Given the description of an element on the screen output the (x, y) to click on. 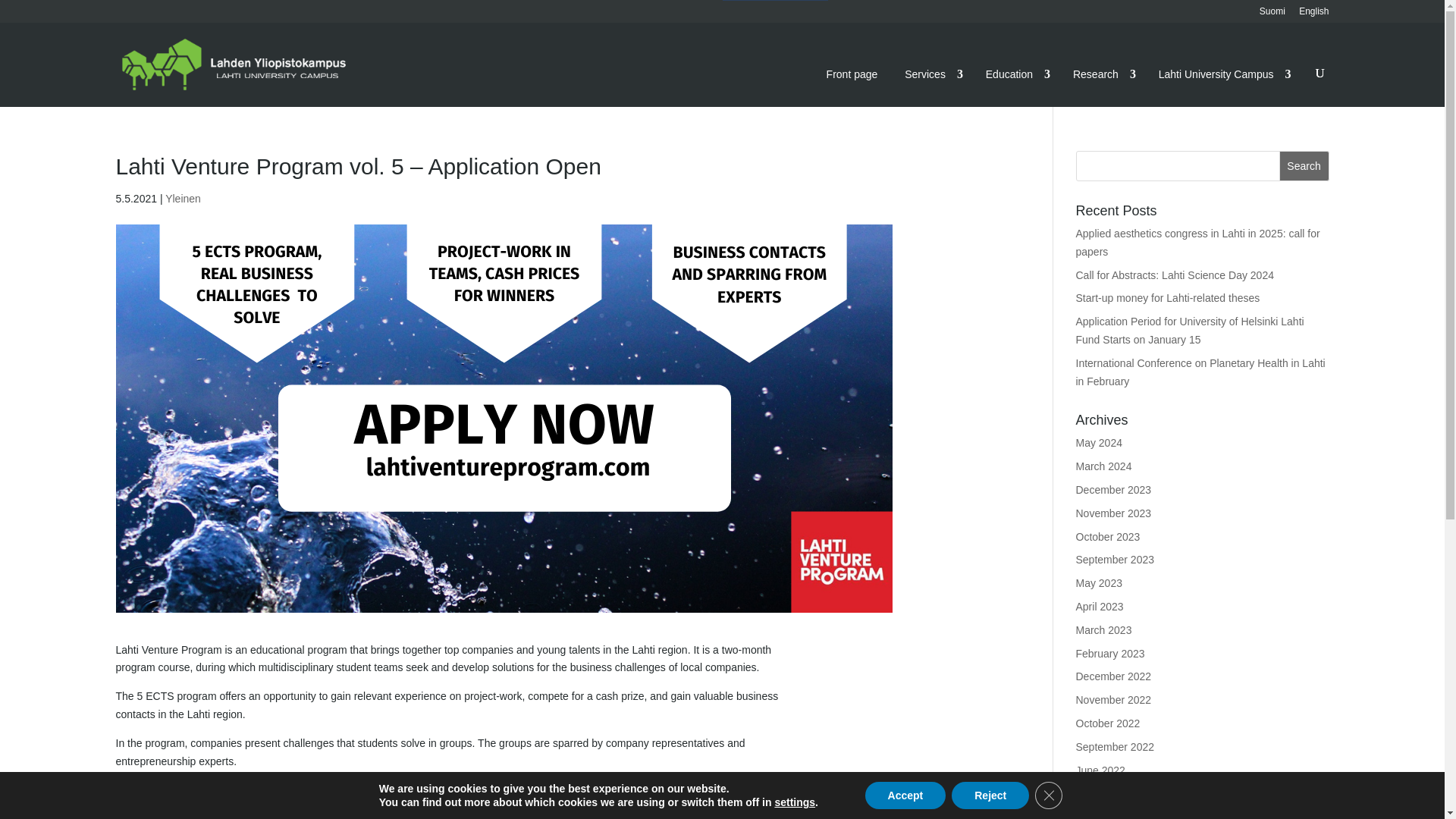
Lahti University Campus (1222, 74)
Front page (852, 74)
Research (1102, 74)
Education (1015, 74)
Search (1304, 165)
Services (930, 74)
Suomi (1272, 14)
English (1312, 14)
